Given the description of an element on the screen output the (x, y) to click on. 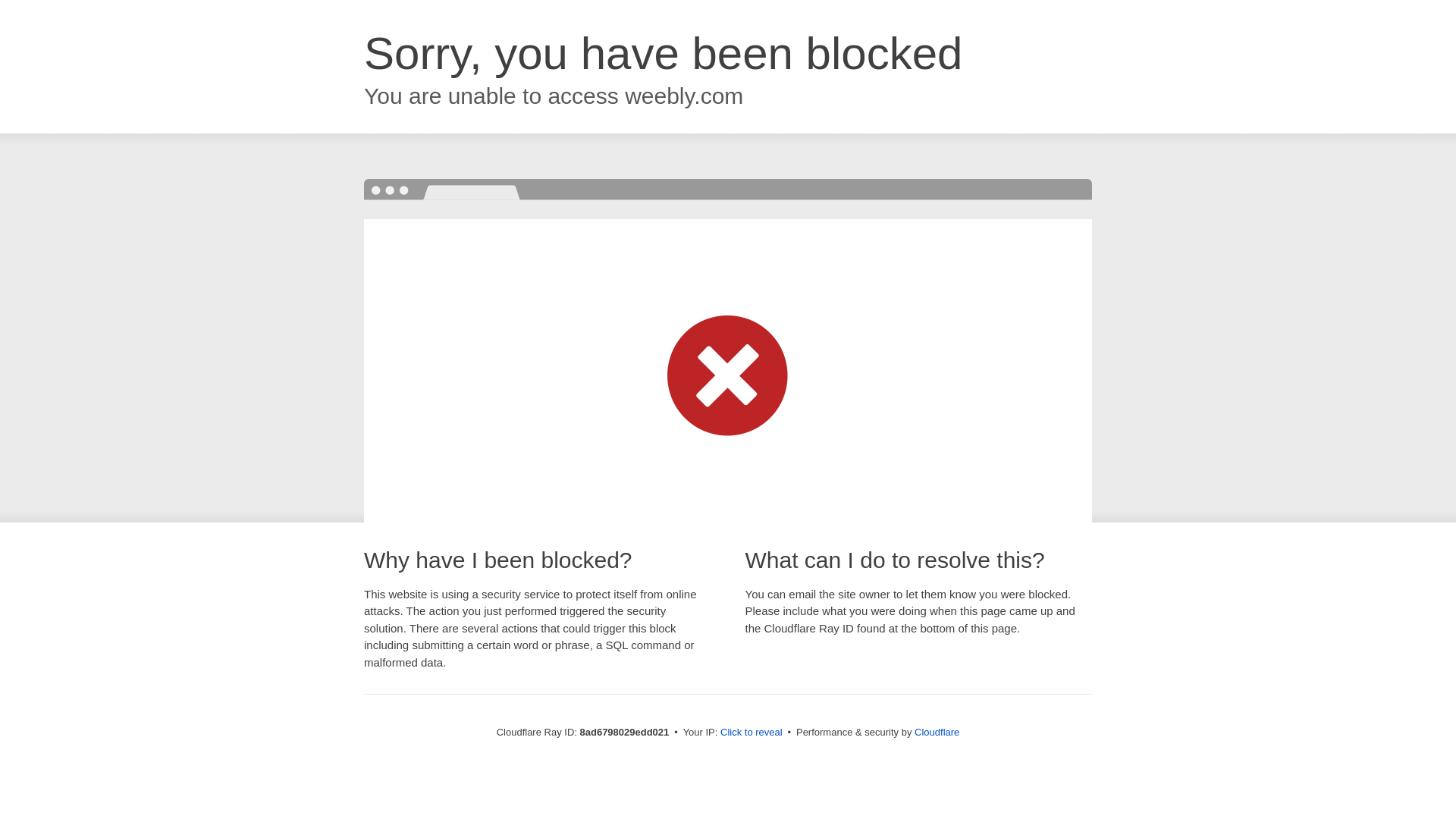
Click to reveal (751, 732)
Cloudflare (936, 731)
